Given the description of an element on the screen output the (x, y) to click on. 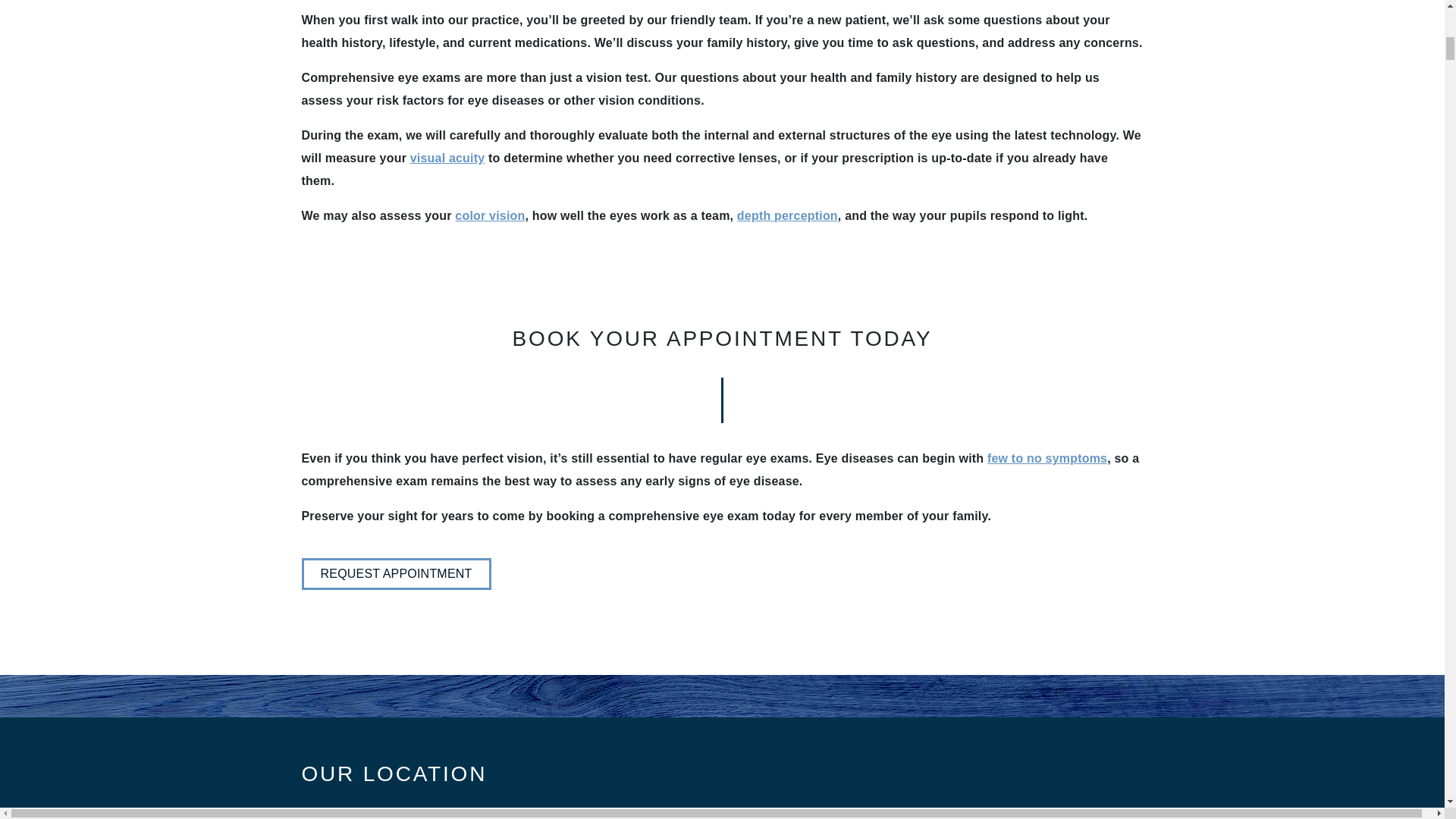
few to no symptoms (1046, 458)
color vision (489, 215)
visual acuity (447, 157)
REQUEST APPOINTMENT (396, 573)
depth perception (787, 215)
